Given the description of an element on the screen output the (x, y) to click on. 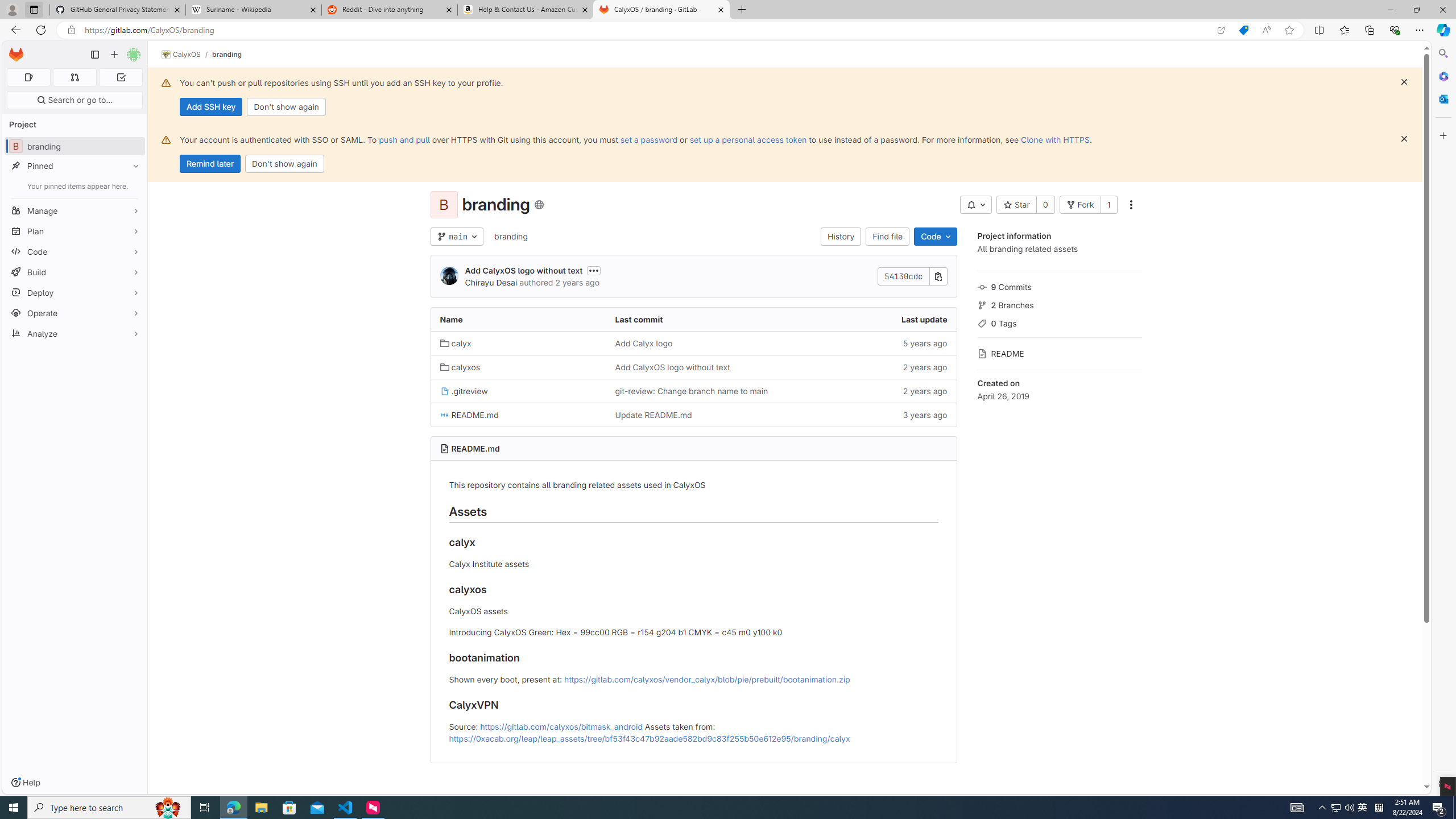
 Star (1015, 204)
set up a personal access token (747, 139)
More actions (1130, 204)
CalyxOS/ (186, 54)
Deploy (74, 292)
Class: tree-item (693, 414)
GitHub General Privacy Statement - GitHub Docs (117, 9)
calyxos (517, 366)
Suriname - Wikipedia (253, 9)
1 (1108, 204)
2 Branches (1058, 304)
